Given the description of an element on the screen output the (x, y) to click on. 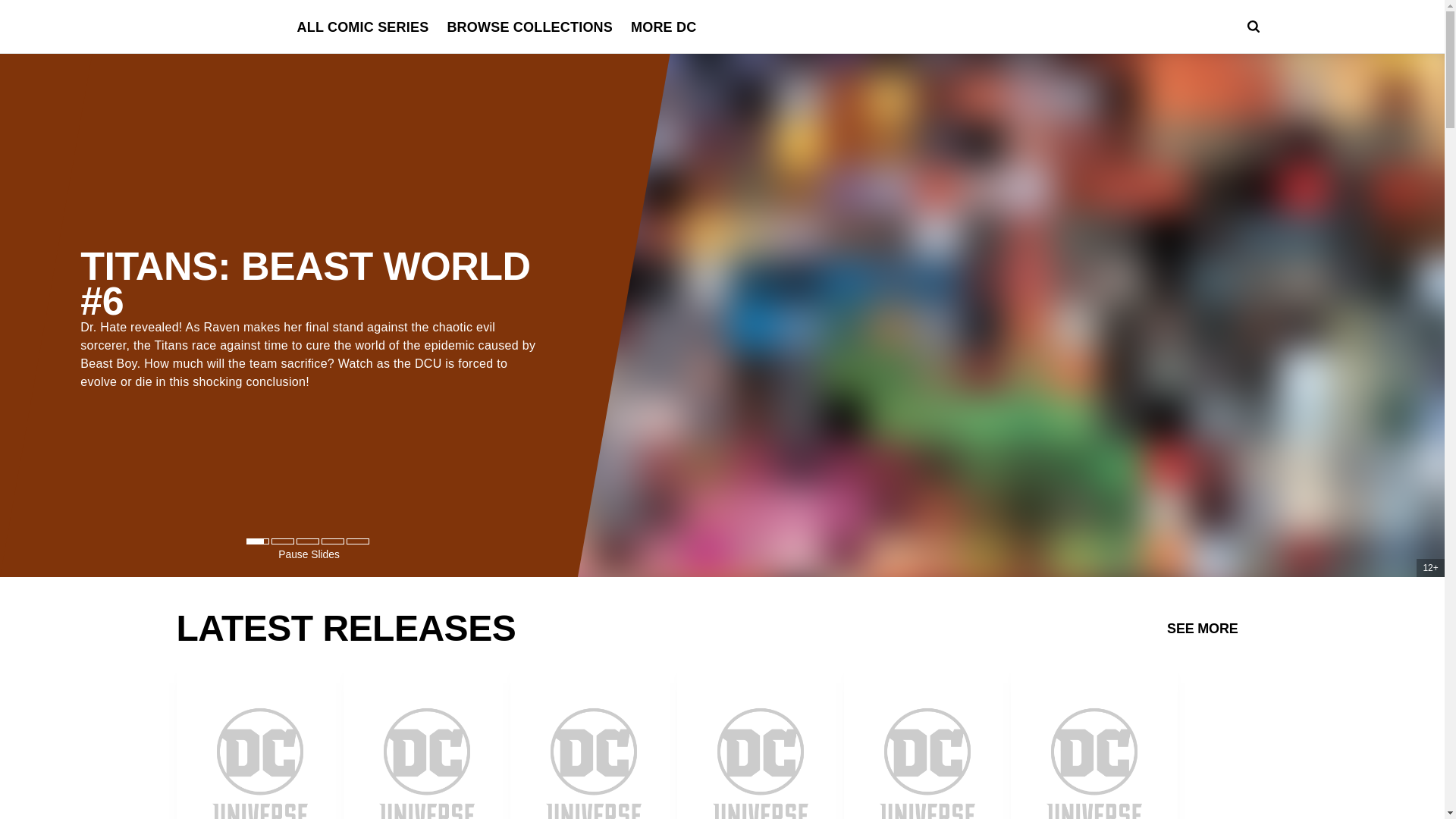
BROWSE COLLECTIONS (529, 26)
MORE DC (662, 26)
SEE MORE (1202, 627)
DC Universe (218, 26)
ALL COMIC SERIES (363, 26)
